Given the description of an element on the screen output the (x, y) to click on. 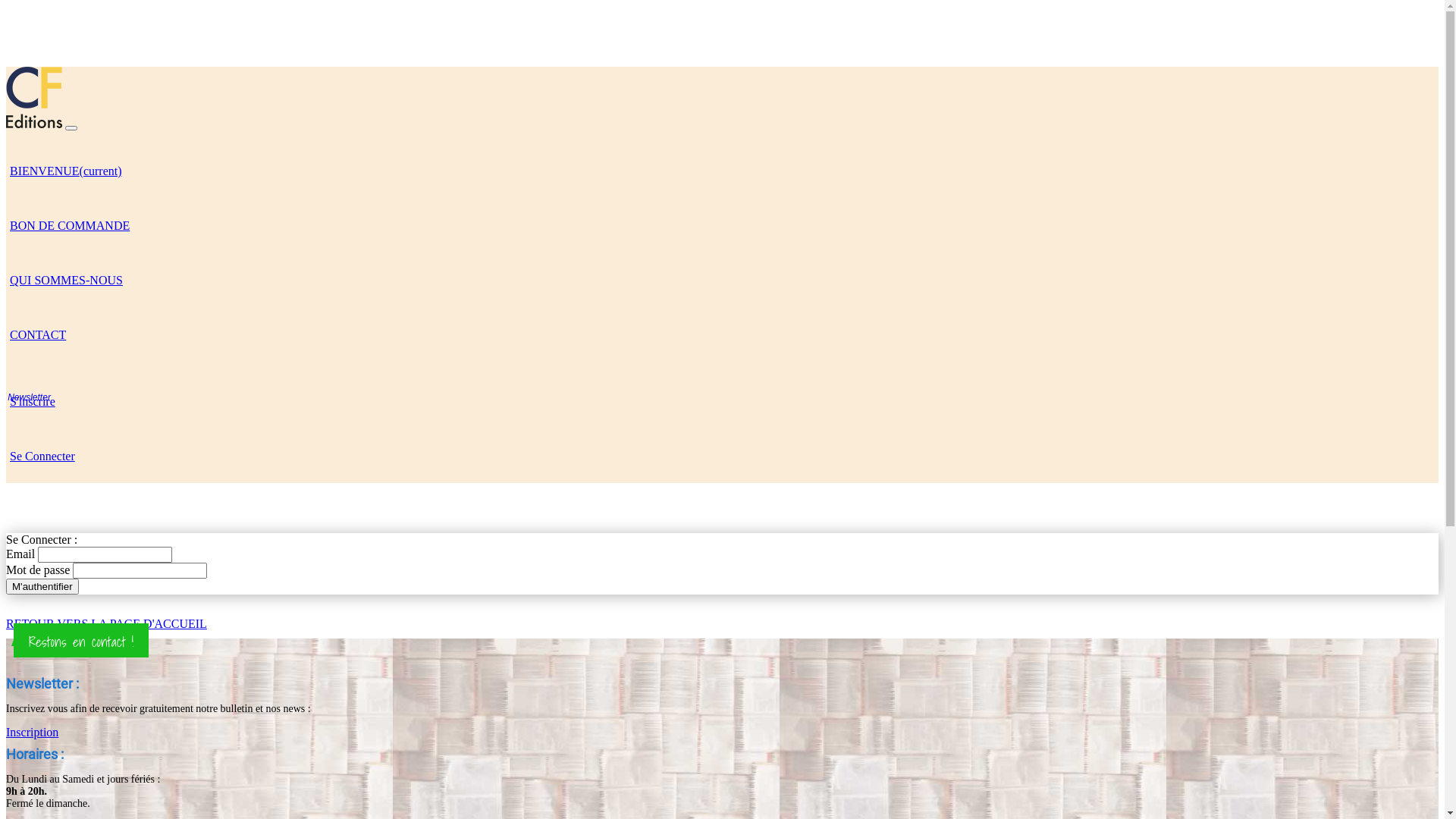
Se Connecter Element type: text (42, 454)
M'authentifier Element type: text (42, 586)
Inscription Element type: text (32, 731)
QUI SOMMES-NOUS Element type: text (66, 278)
BIENVENUE(current) Element type: text (65, 169)
Newsletter
S'inscrire Element type: text (32, 399)
BON DE COMMANDE Element type: text (69, 224)
CONTACT Element type: text (37, 333)
RETOUR VERS LA PAGE D'ACCUEIL Element type: text (106, 623)
